Given the description of an element on the screen output the (x, y) to click on. 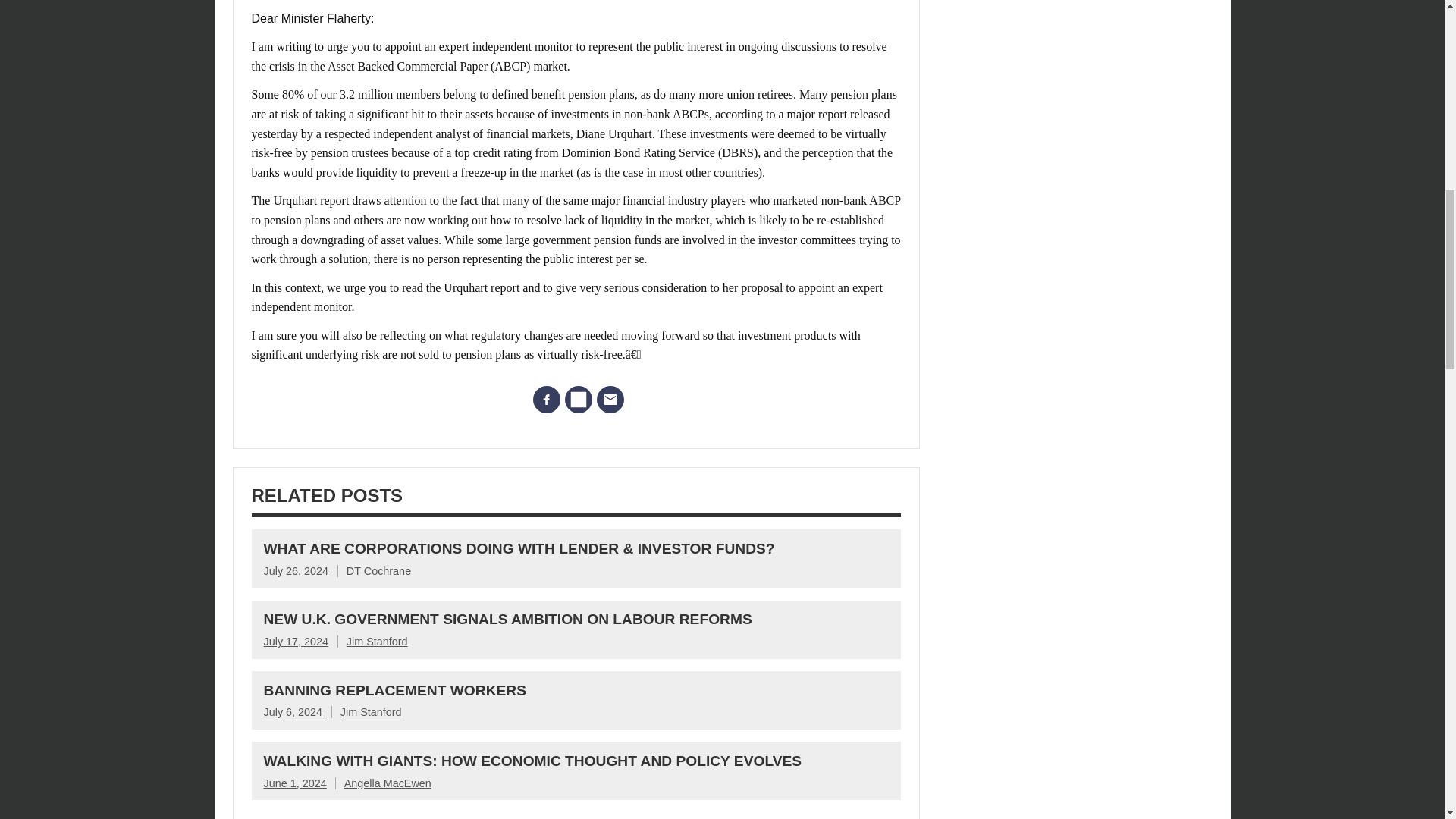
2:09 pm (293, 711)
View all posts by Jim Stanford (370, 711)
BANNING REPLACEMENT WORKERS (394, 690)
WALKING WITH GIANTS: HOW ECONOMIC THOUGHT AND POLICY EVOLVES (532, 760)
July 6, 2024 (293, 711)
View all posts by Jim Stanford (376, 641)
DT Cochrane (378, 571)
View all posts by Angella MacEwen (386, 783)
July 17, 2024 (296, 641)
June 1, 2024 (294, 783)
NEW U.K. GOVERNMENT SIGNALS AMBITION ON LABOUR REFORMS (507, 618)
July 26, 2024 (296, 571)
7:18 pm (294, 783)
4:48 pm (296, 571)
Jim Stanford (370, 711)
